Given the description of an element on the screen output the (x, y) to click on. 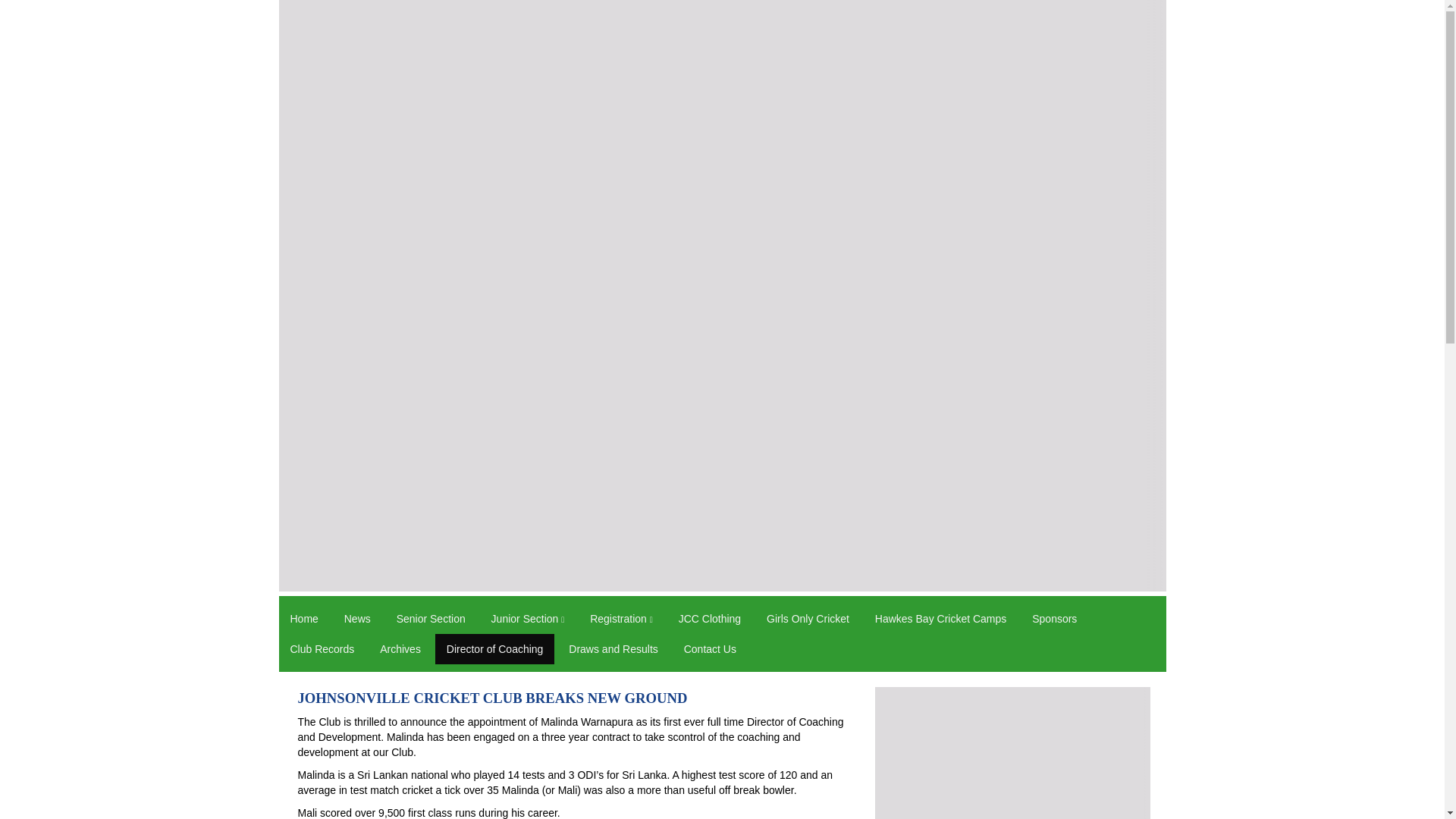
Club Records (322, 648)
Senior Section (431, 618)
Archives (400, 648)
News (357, 618)
JCC Clothing (709, 618)
Draws and Results (613, 648)
Girls Only Cricket (807, 618)
Registration (620, 618)
Home (304, 618)
Sponsors (1053, 618)
